Given the description of an element on the screen output the (x, y) to click on. 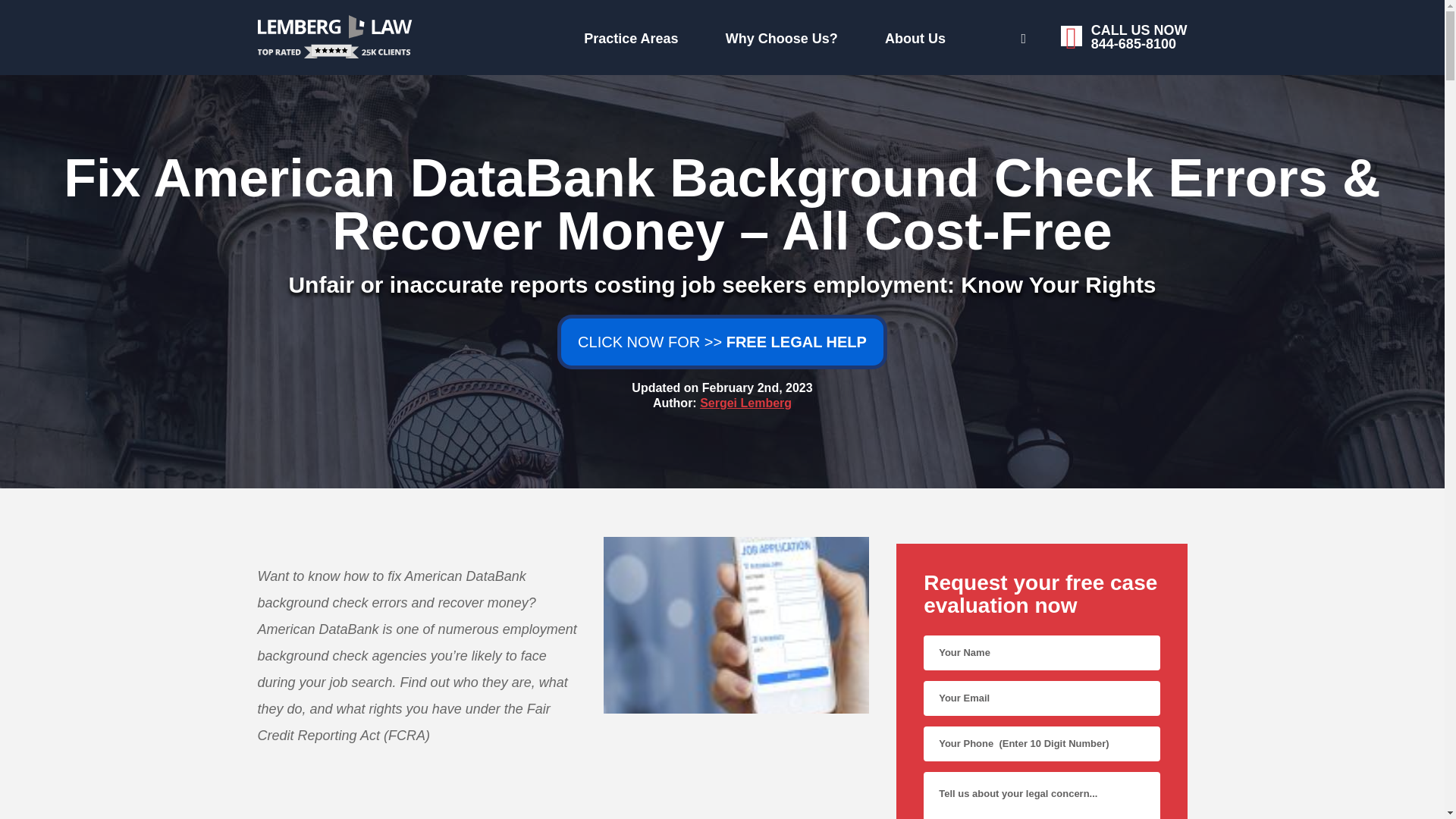
YouTube video (563, 810)
Why Choose Us? (968, 35)
About Us (627, 35)
Sergei Lemberg (760, 35)
Practice Areas (746, 402)
